Given the description of an element on the screen output the (x, y) to click on. 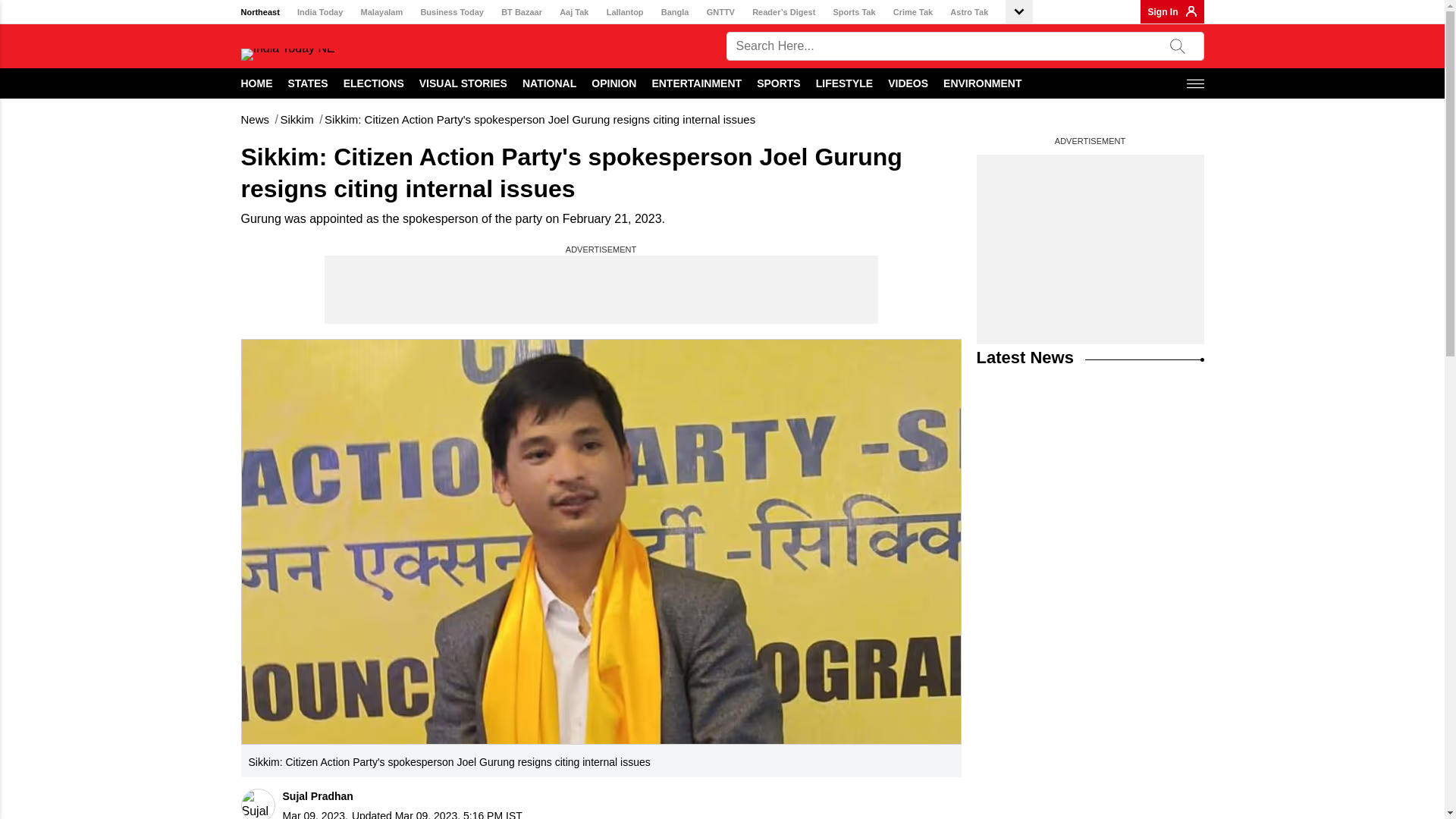
ENTERTAINMENT (695, 82)
Aaj Tak (573, 12)
Sports Tak (854, 12)
Business Today (451, 12)
Sports Tak (854, 12)
Crime Tak (913, 12)
VISUAL STORIES (462, 82)
GNTTV (720, 12)
Astro Tak (969, 12)
HOME (257, 82)
Malayalam (382, 12)
STATES (308, 82)
Northeast (260, 12)
Bangla (674, 12)
Northeast (260, 12)
